Given the description of an element on the screen output the (x, y) to click on. 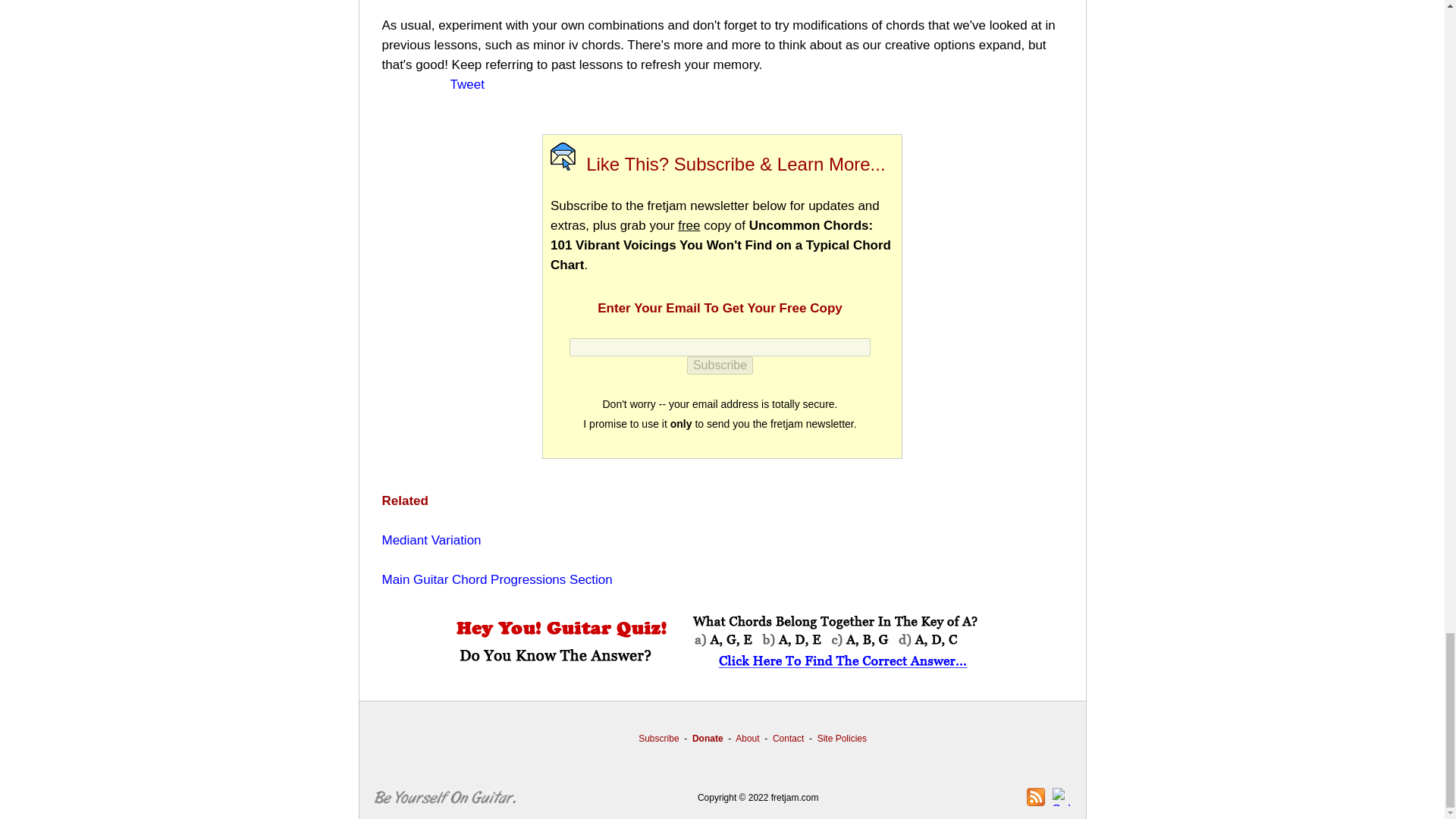
Subscribe to fretjam's YouTube channel (1061, 796)
subscribe to fretjam's RSS feed (1035, 796)
Subscribe (719, 365)
Main Guitar Chord Progressions Section (496, 579)
Site Policies (841, 738)
Contact (788, 738)
hit for the answer (721, 643)
Tweet (466, 83)
Mediant Variation (431, 540)
Subscribe (719, 365)
